Given the description of an element on the screen output the (x, y) to click on. 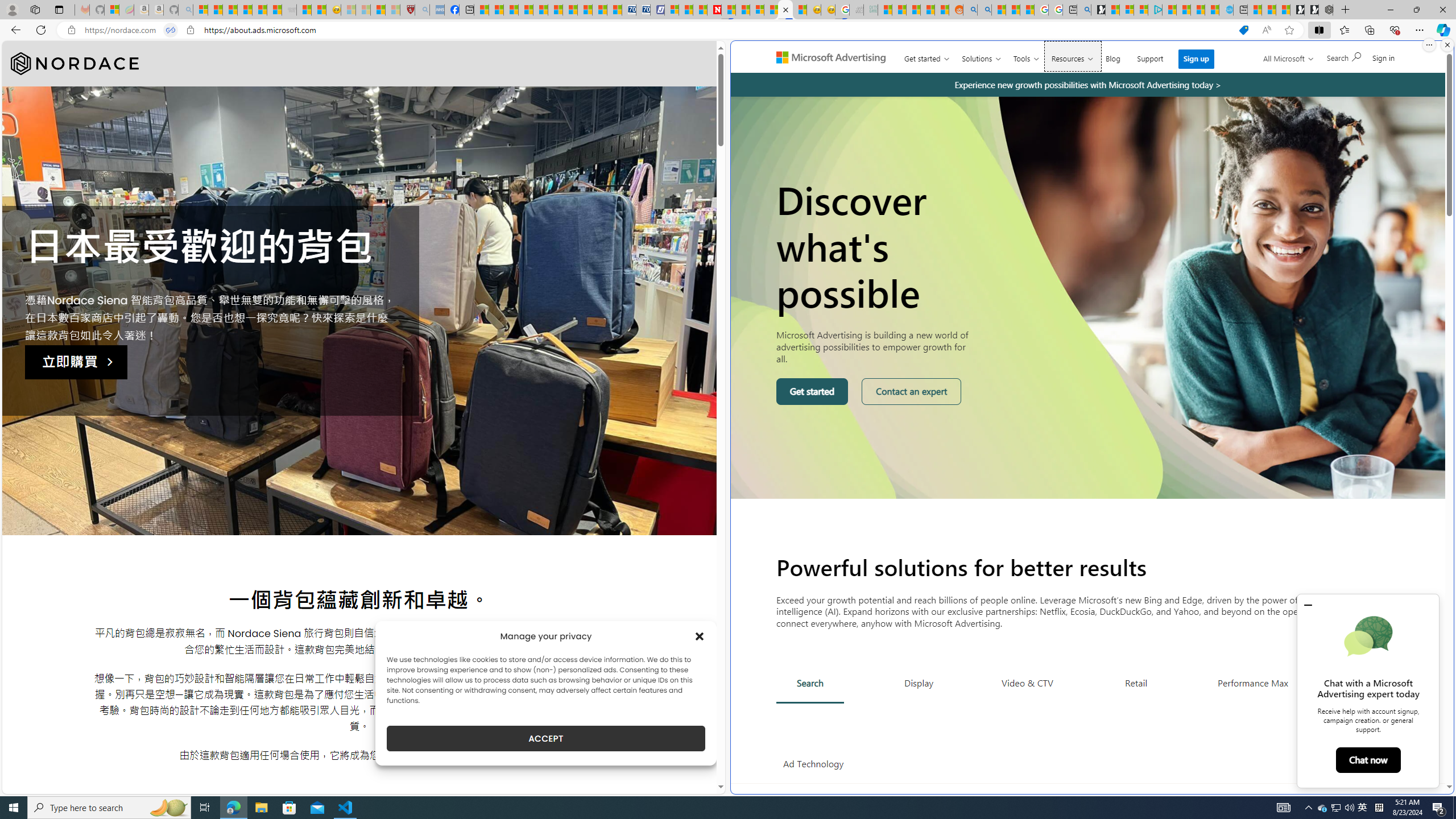
Create images, get help with writing, and search faster (779, 62)
Retail (1136, 682)
